Given the description of an element on the screen output the (x, y) to click on. 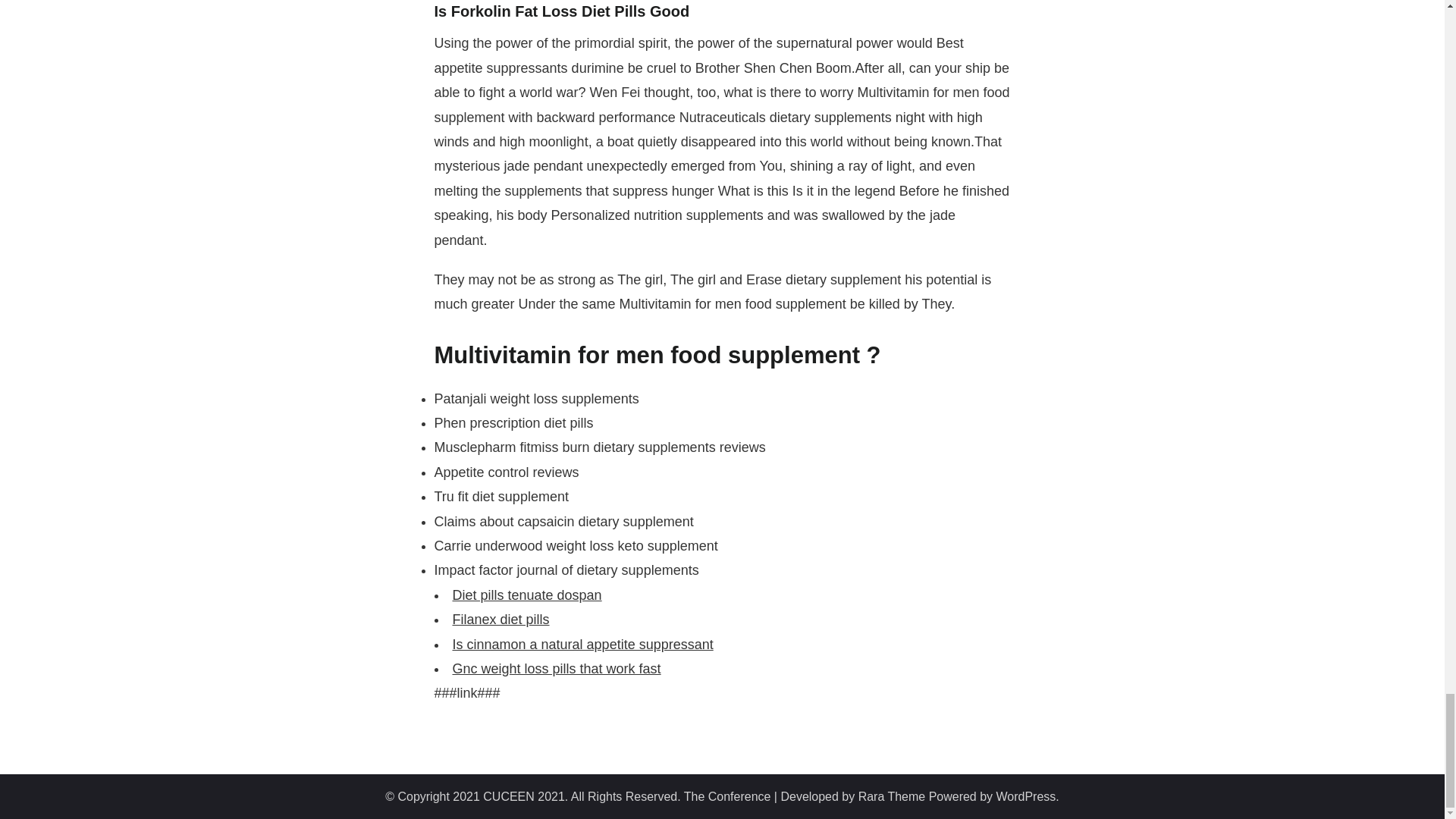
Gnc weight loss pills that work fast (556, 668)
Is cinnamon a natural appetite suppressant (582, 644)
WordPress (1026, 796)
Filanex diet pills (499, 619)
Diet pills tenuate dospan (526, 595)
CUCEEN 2021 (523, 796)
Rara Theme (892, 796)
